Given the description of an element on the screen output the (x, y) to click on. 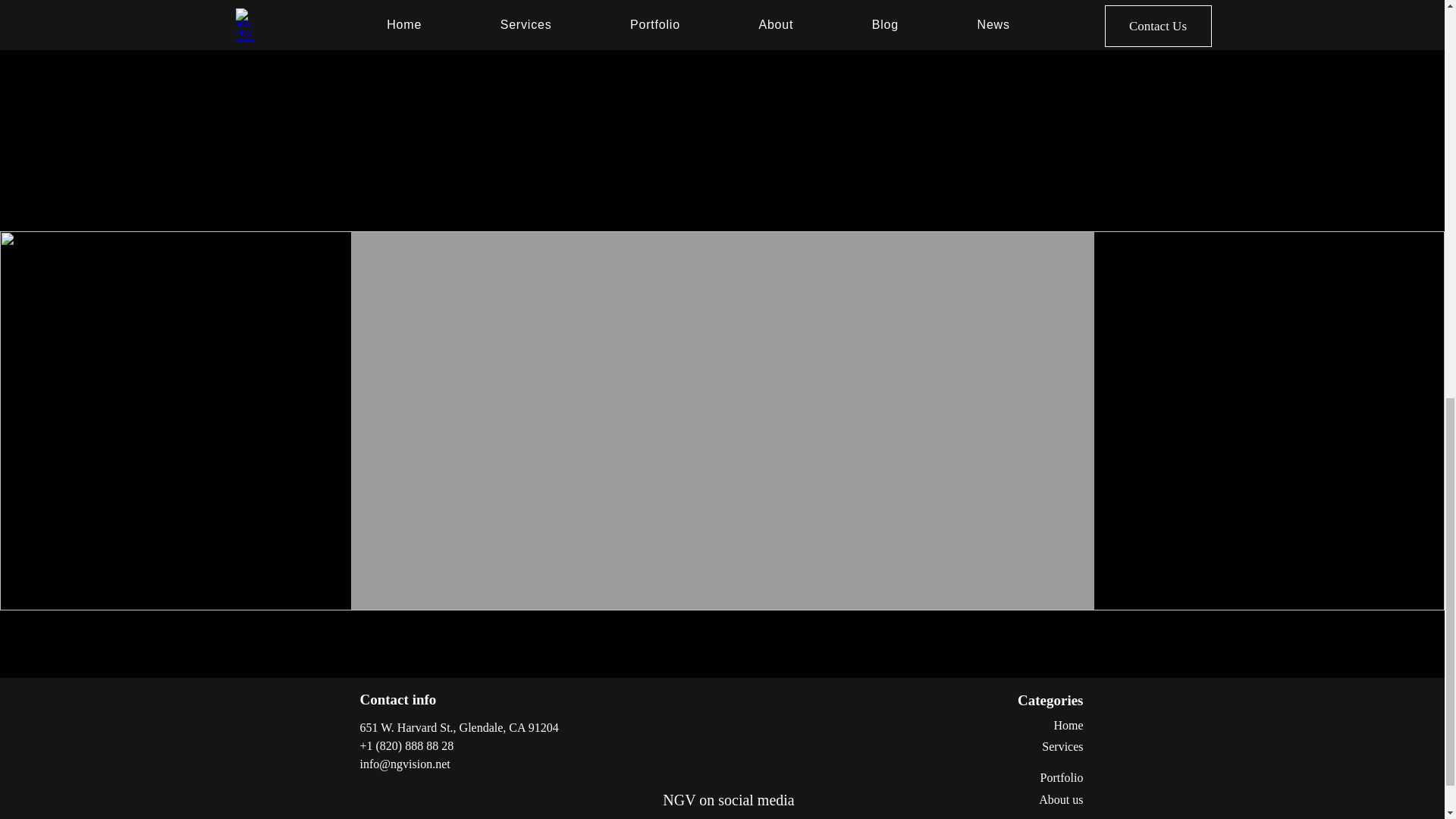
Services (1062, 746)
651 W. Harvard St.,  (408, 727)
About us (1061, 799)
Home (1067, 725)
Portfolio (1062, 777)
